Given the description of an element on the screen output the (x, y) to click on. 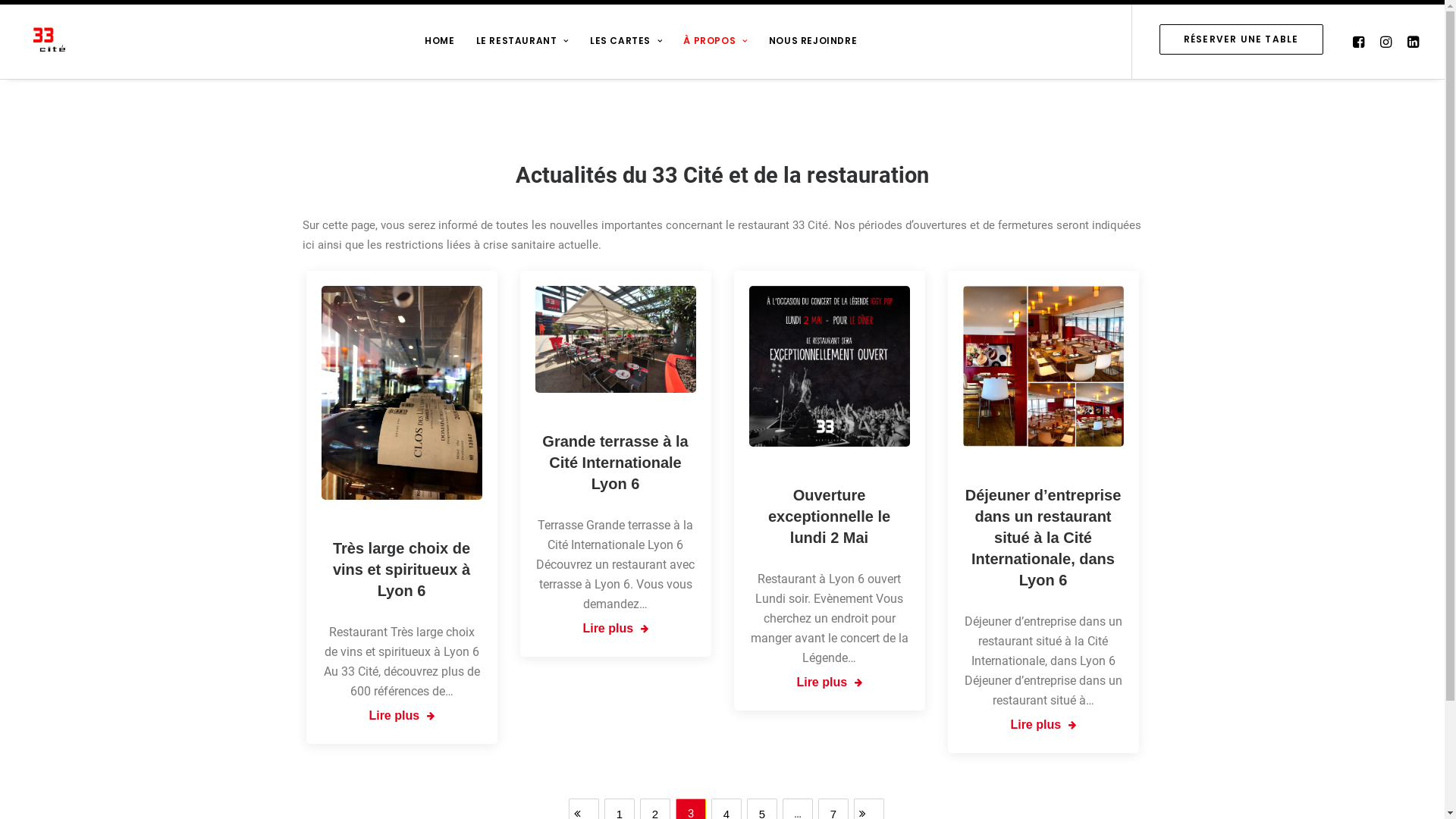
Lire plus Element type: text (1042, 724)
Ouverture exceptionnelle le lundi 2 Mai Element type: text (829, 516)
Lire plus Element type: text (828, 681)
LES CARTES Element type: text (625, 39)
NOUS REJOINDRE Element type: text (812, 39)
Lire plus Element type: text (614, 628)
HOME Element type: text (439, 39)
Lire plus Element type: text (400, 715)
LE RESTAURANT Element type: text (522, 39)
